Given the description of an element on the screen output the (x, y) to click on. 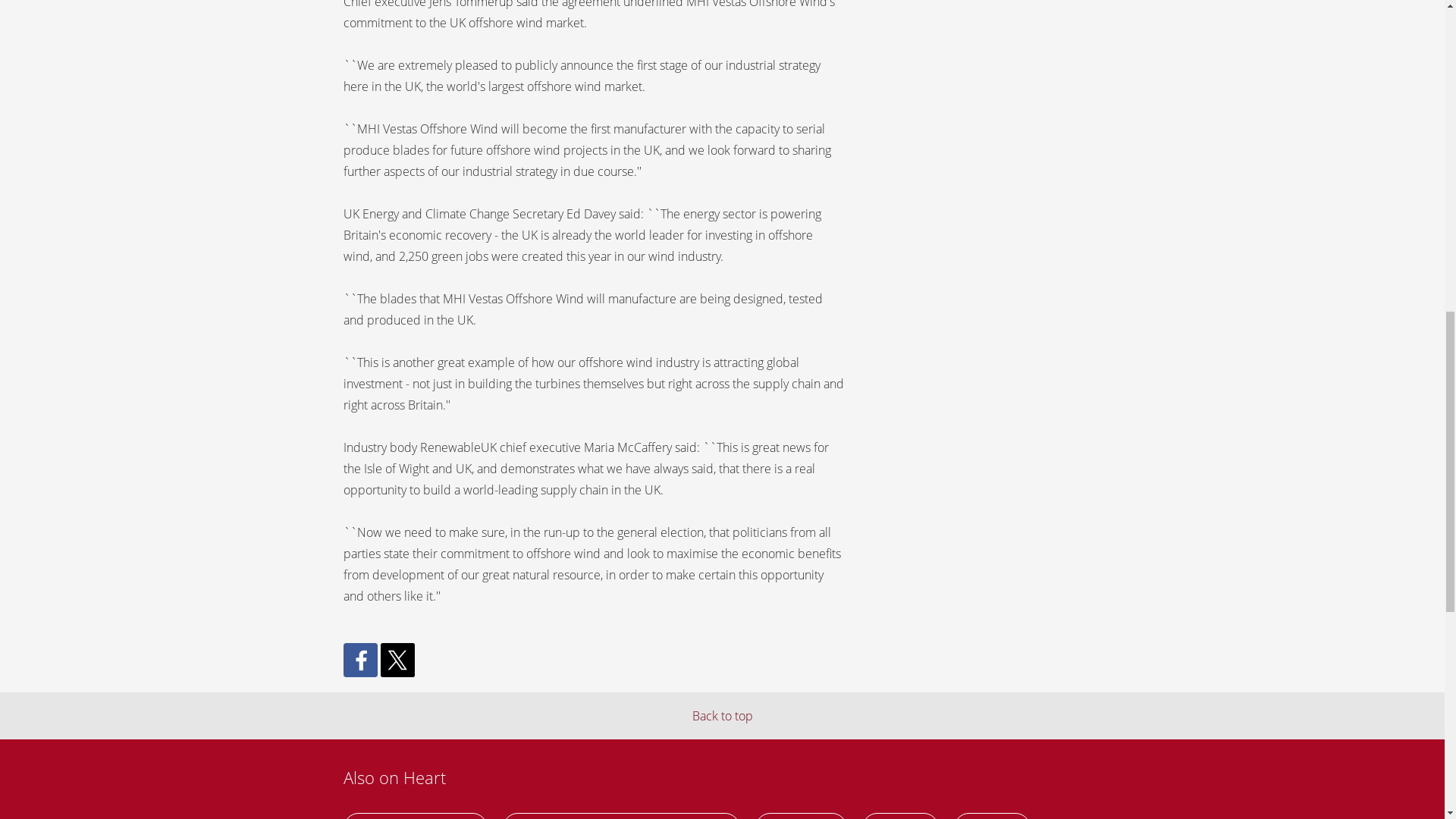
Back to top (721, 715)
